Given the description of an element on the screen output the (x, y) to click on. 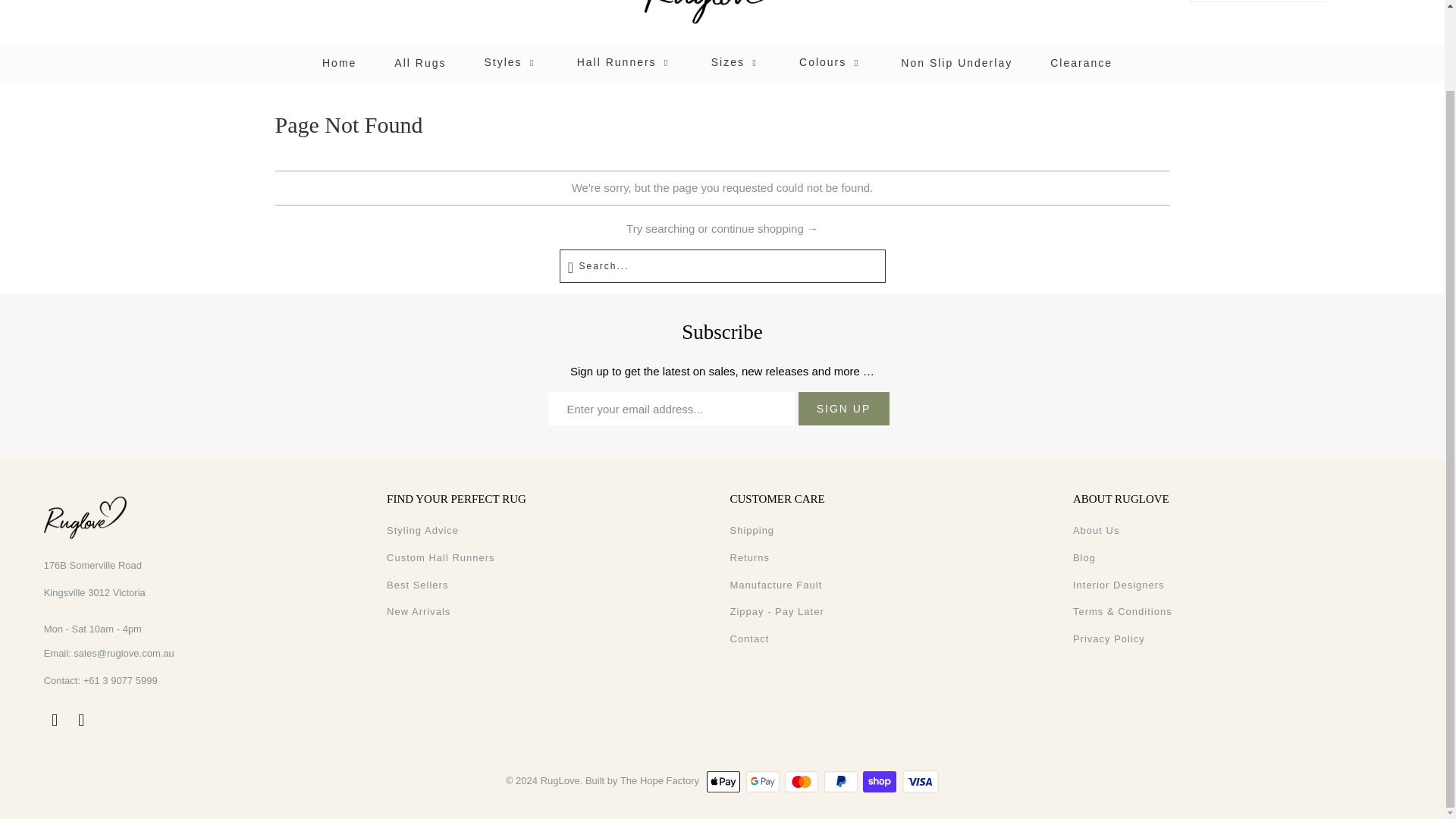
RugLove (722, 18)
Google Pay (764, 781)
Sign Up (842, 408)
Apple Pay (724, 781)
RugLove on Instagram (81, 720)
Shop Pay (881, 781)
PayPal (842, 781)
Mastercard (802, 781)
RugLove on Facebook (54, 720)
Visa (920, 781)
